Given the description of an element on the screen output the (x, y) to click on. 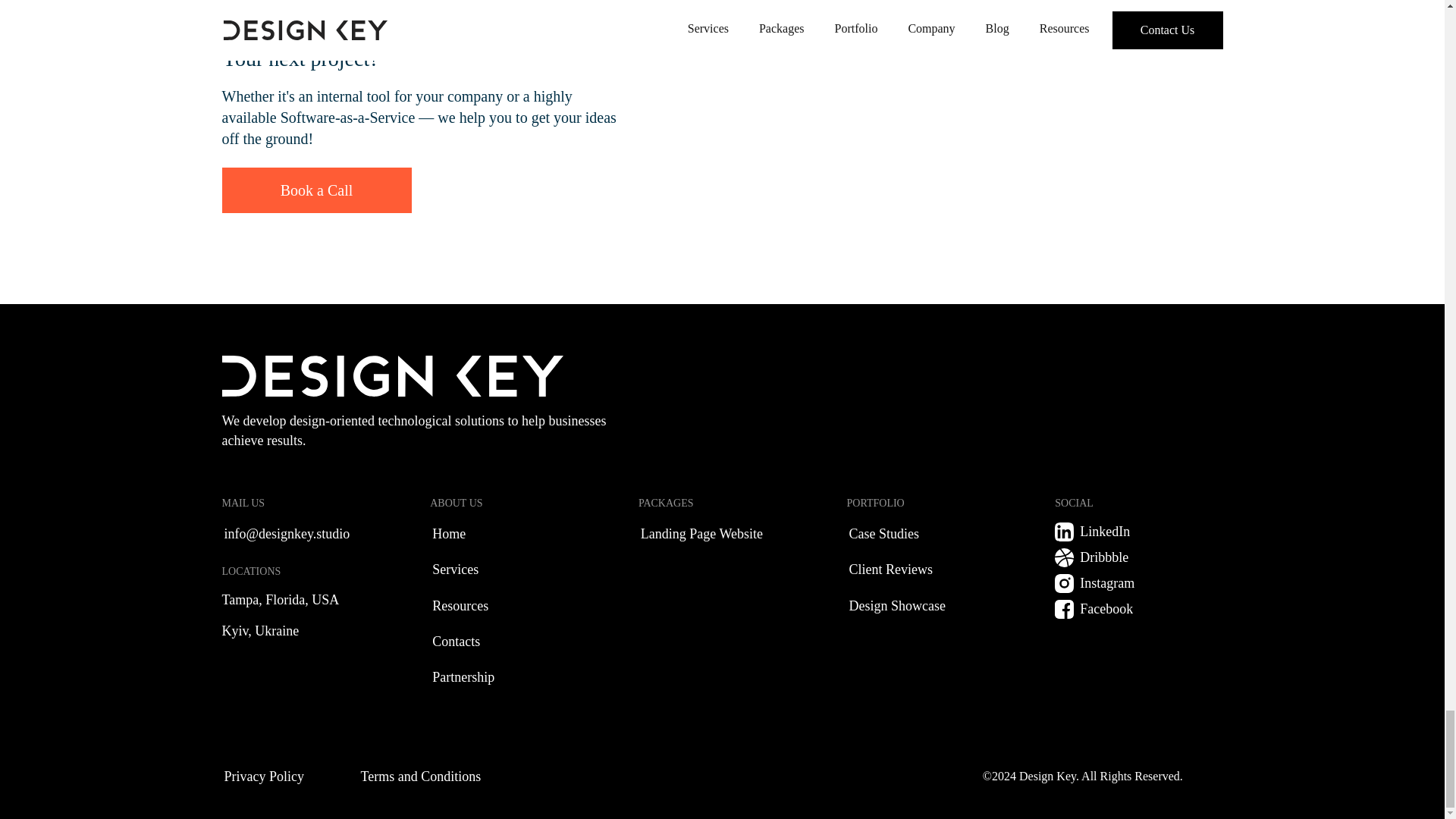
Facebook (1138, 609)
Resources (512, 606)
Contacts (512, 641)
Home (512, 534)
Dribbble (1138, 557)
Services (512, 569)
Book a Call (315, 189)
Landing Page Website (722, 534)
Case Studies (930, 534)
Design Showcase (930, 606)
